Given the description of an element on the screen output the (x, y) to click on. 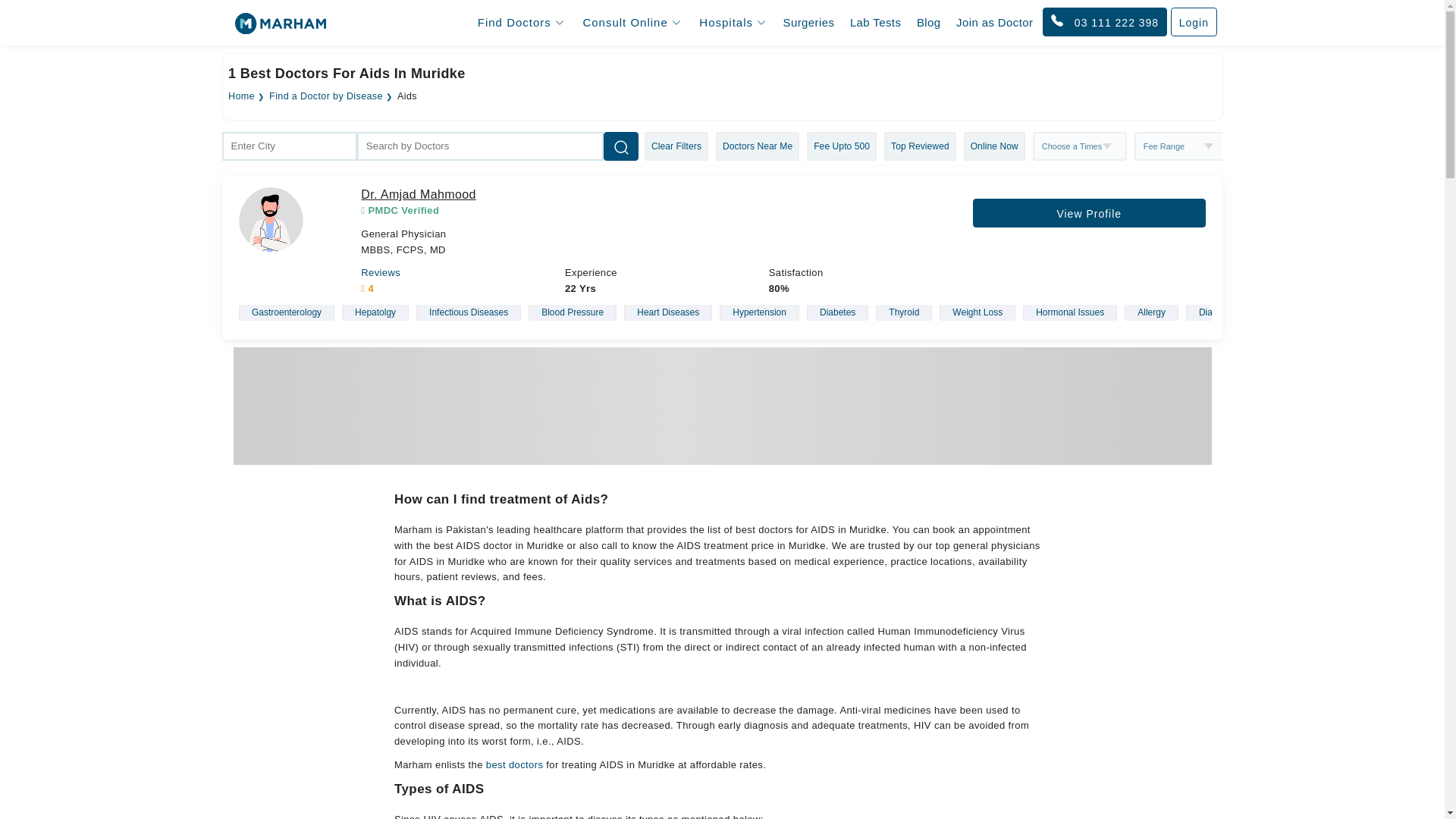
Consult Online (631, 22)
Join as Doctor (994, 22)
Hospitals (732, 22)
Surgeries (809, 22)
Blog (929, 22)
Find Doctors (521, 22)
Lab Tests (875, 22)
Login (1193, 22)
Login (1193, 21)
Find a Doctor by Disease (325, 95)
03 111 222 398 (1104, 21)
Home (241, 95)
